Given the description of an element on the screen output the (x, y) to click on. 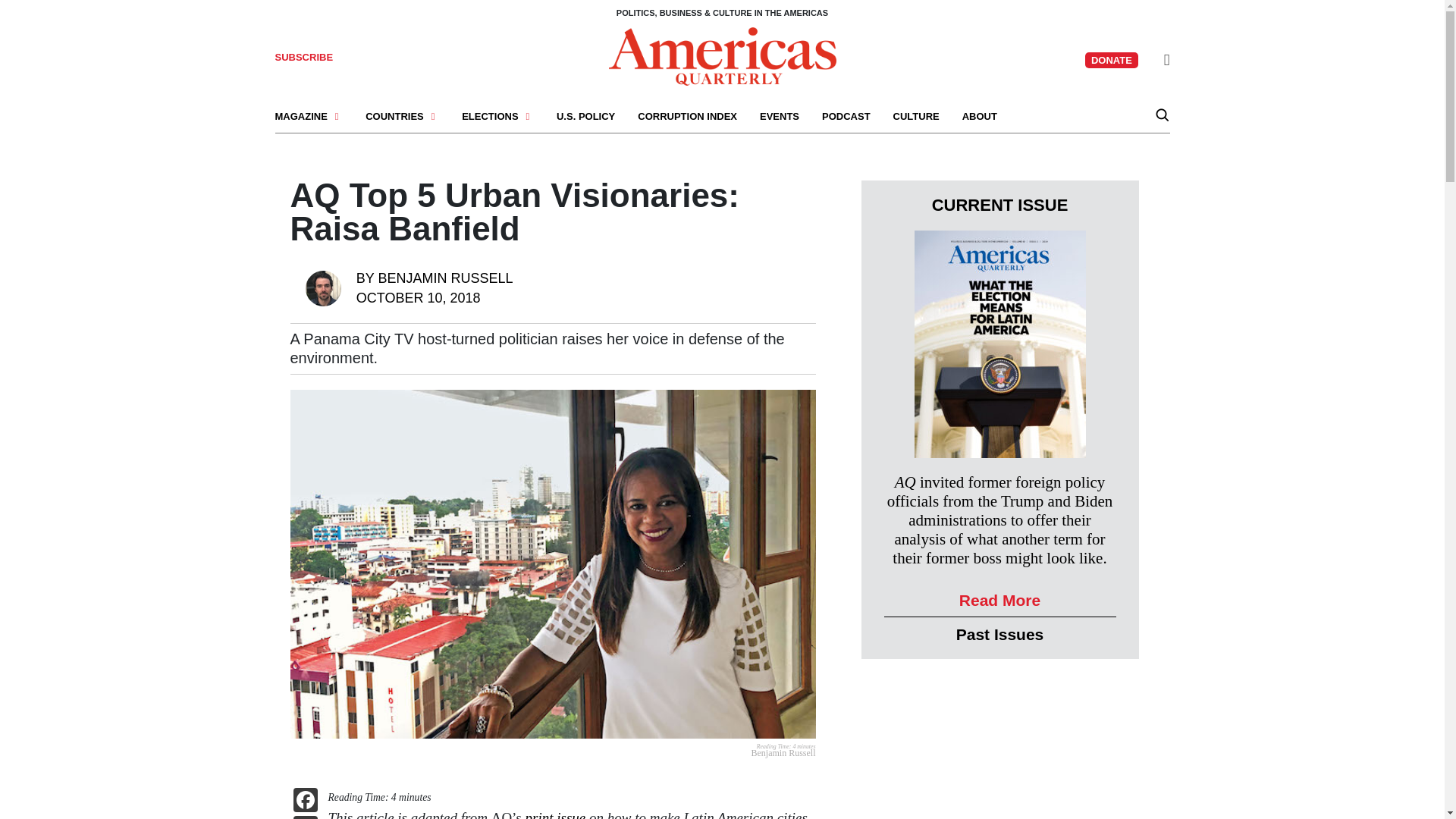
Facebook (304, 801)
DONATE (1111, 59)
Americas Quarterly (721, 54)
X (304, 817)
SUBSCRIBE (304, 57)
Americas Quarterly (721, 56)
